Given the description of an element on the screen output the (x, y) to click on. 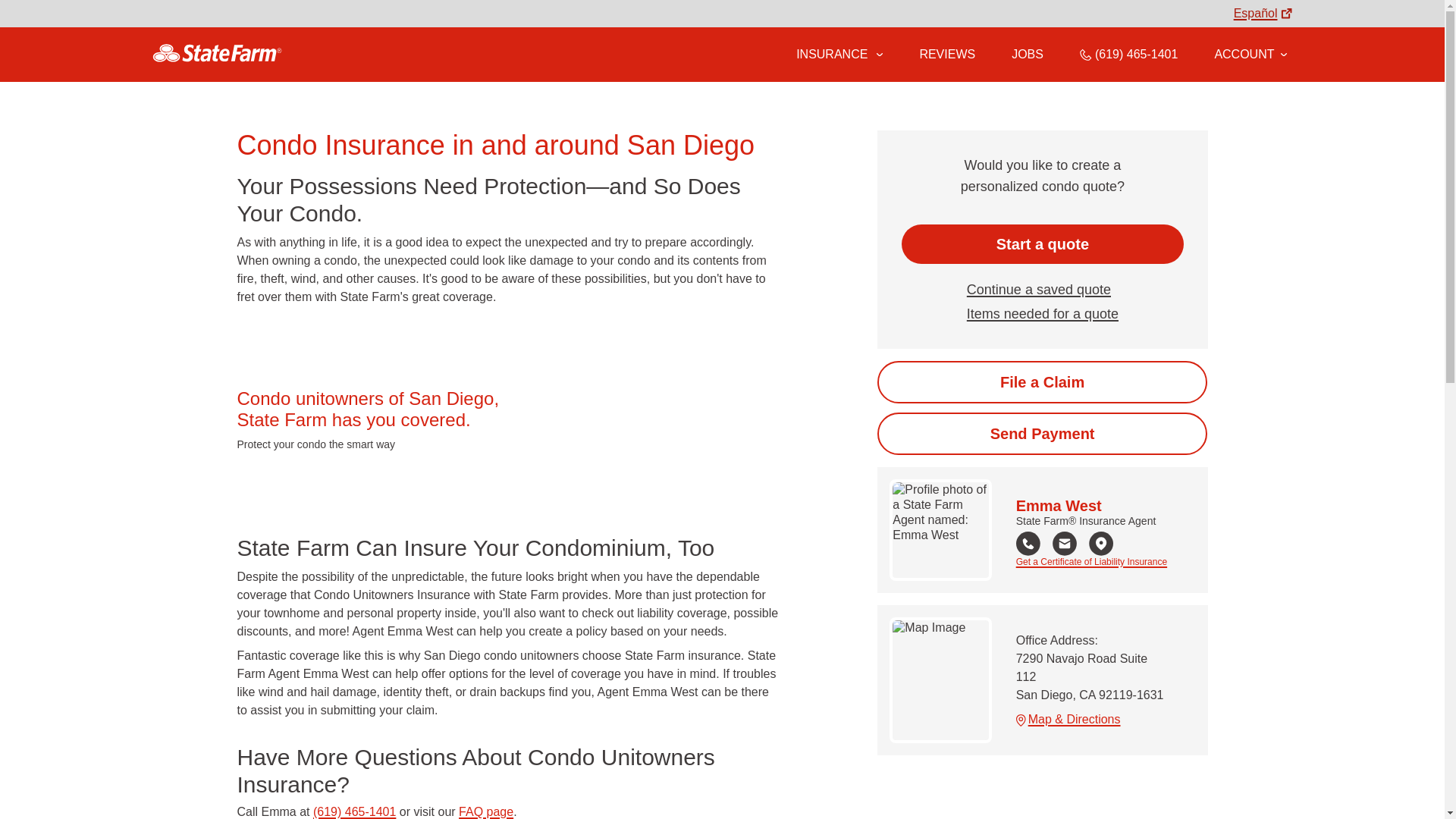
Start the claim process online (1042, 382)
REVIEWS (946, 54)
JOBS (1027, 54)
INSURANCE (830, 54)
FAQ page (485, 811)
Insurance (839, 54)
ACCOUNT (1250, 54)
Account Options (1250, 54)
